Given the description of an element on the screen output the (x, y) to click on. 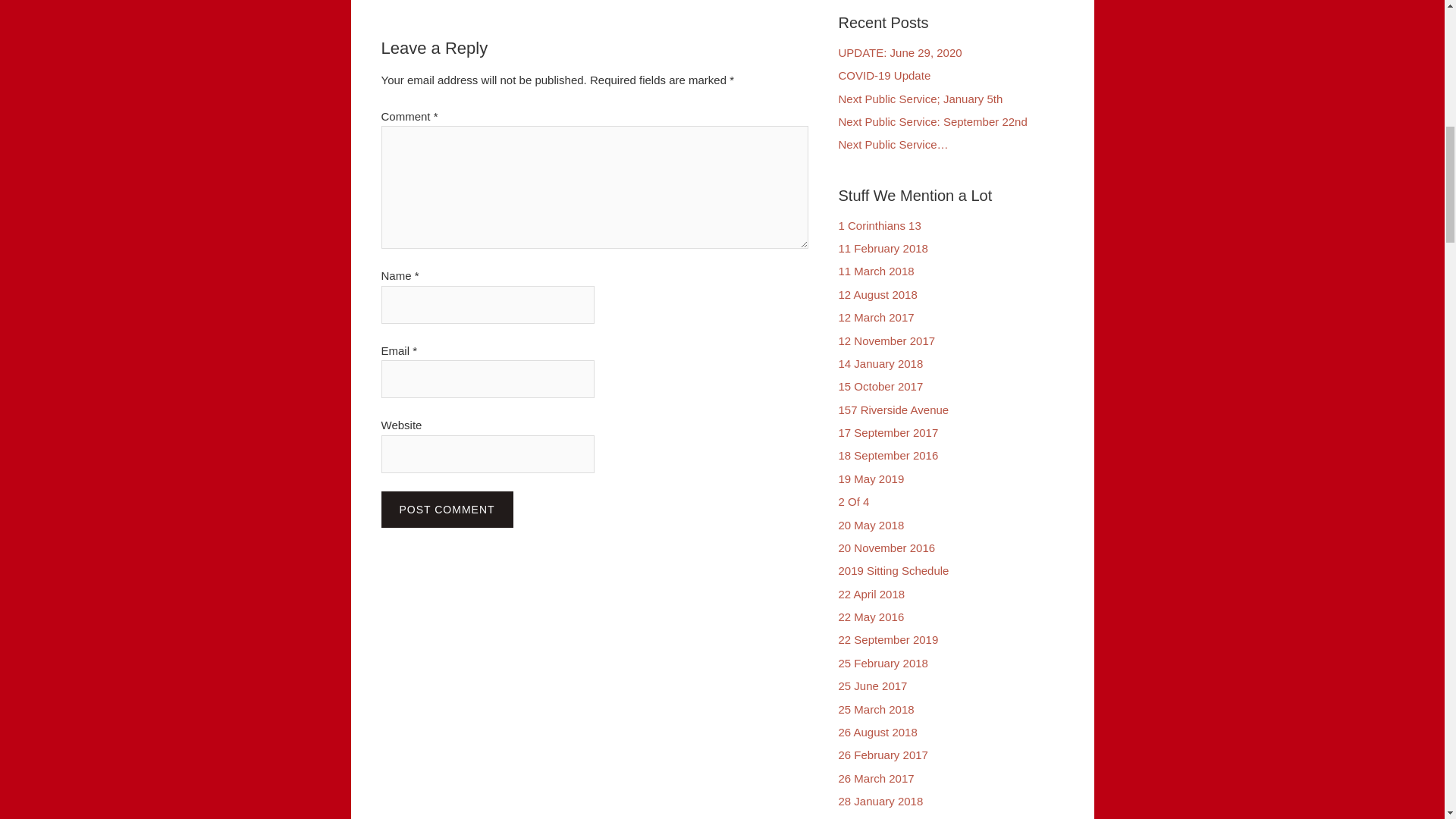
Next Public Service; January 5th (920, 98)
19 May 2019 (871, 478)
COVID-19 Update (884, 74)
2019 Sitting Schedule (893, 570)
20 May 2018 (871, 524)
17 September 2017 (888, 431)
11 March 2018 (876, 270)
20 November 2016 (887, 547)
18 September 2016 (888, 454)
157 Riverside Avenue (893, 409)
Post Comment (446, 509)
15 October 2017 (880, 386)
UPDATE: June 29, 2020 (900, 51)
Next Public Service: September 22nd (932, 121)
12 August 2018 (877, 294)
